Given the description of an element on the screen output the (x, y) to click on. 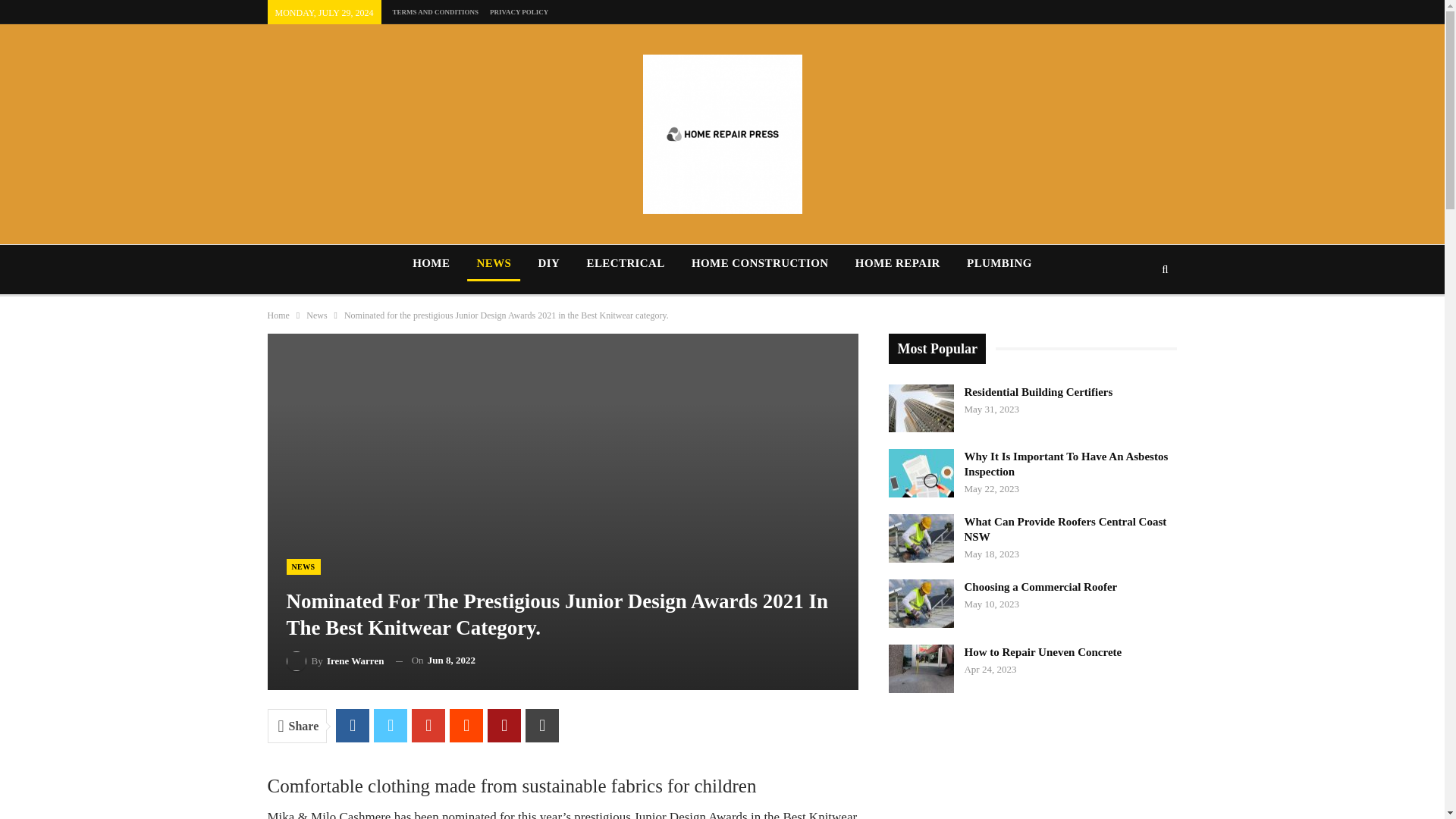
NEWS (494, 262)
NEWS (303, 566)
ELECTRICAL (626, 262)
By Irene Warren (335, 660)
News (315, 315)
Home (277, 315)
TERMS AND CONDITIONS (436, 11)
PRIVACY POLICY (518, 11)
DIY (549, 262)
HOME (430, 262)
Browse Author Articles (335, 660)
HOME REPAIR (897, 262)
PLUMBING (999, 262)
HOME CONSTRUCTION (760, 262)
